Given the description of an element on the screen output the (x, y) to click on. 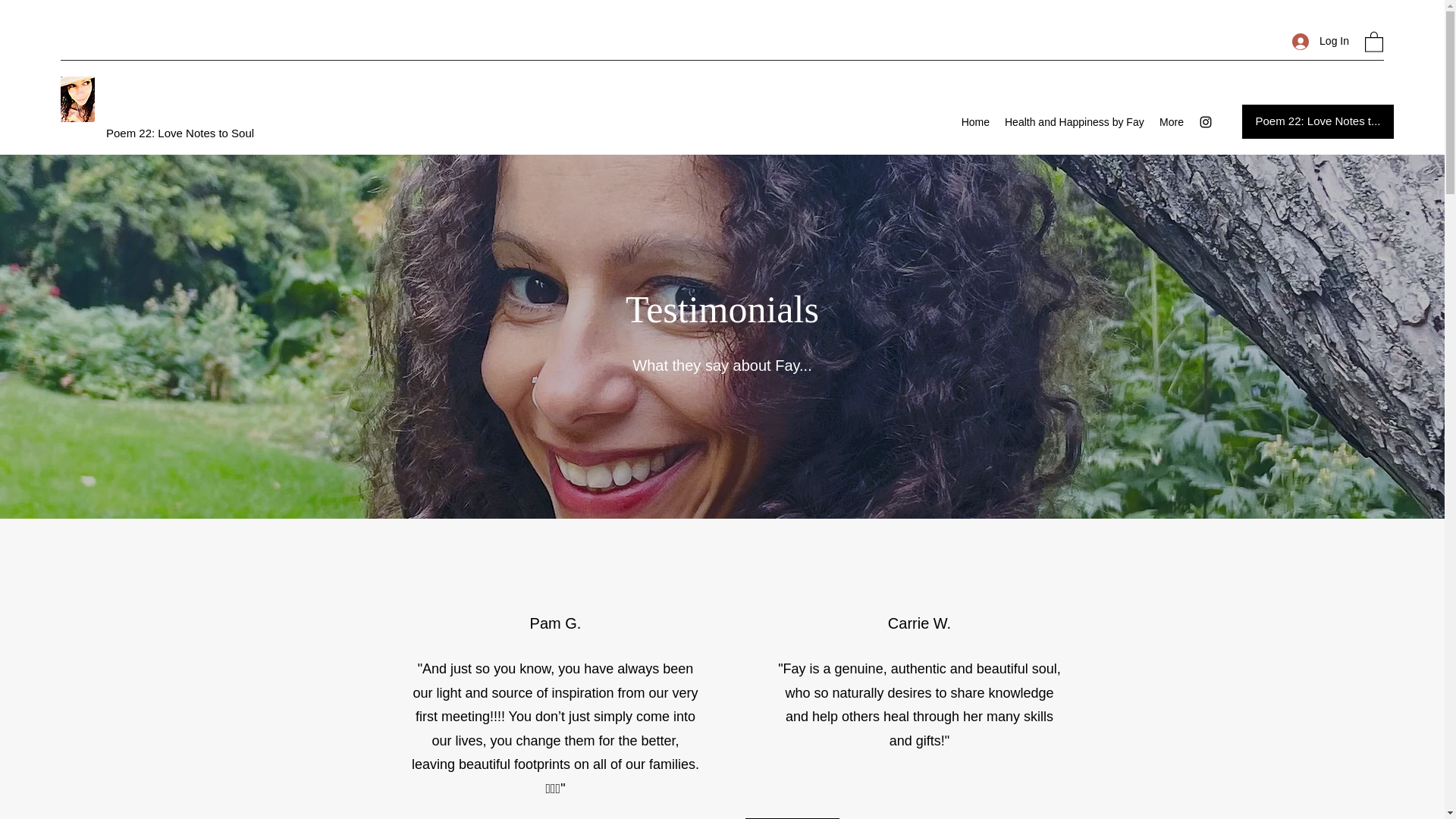
Home (975, 121)
Log In (1320, 41)
Poem 22: Love Notes t... (1317, 121)
Health and Happiness by Fay (1074, 121)
